Given the description of an element on the screen output the (x, y) to click on. 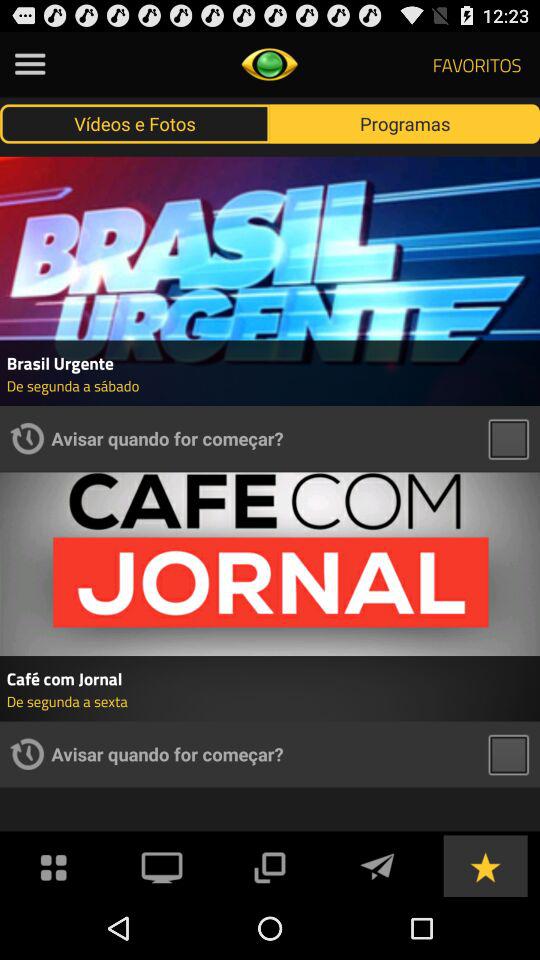
the menu bar (54, 865)
